Given the description of an element on the screen output the (x, y) to click on. 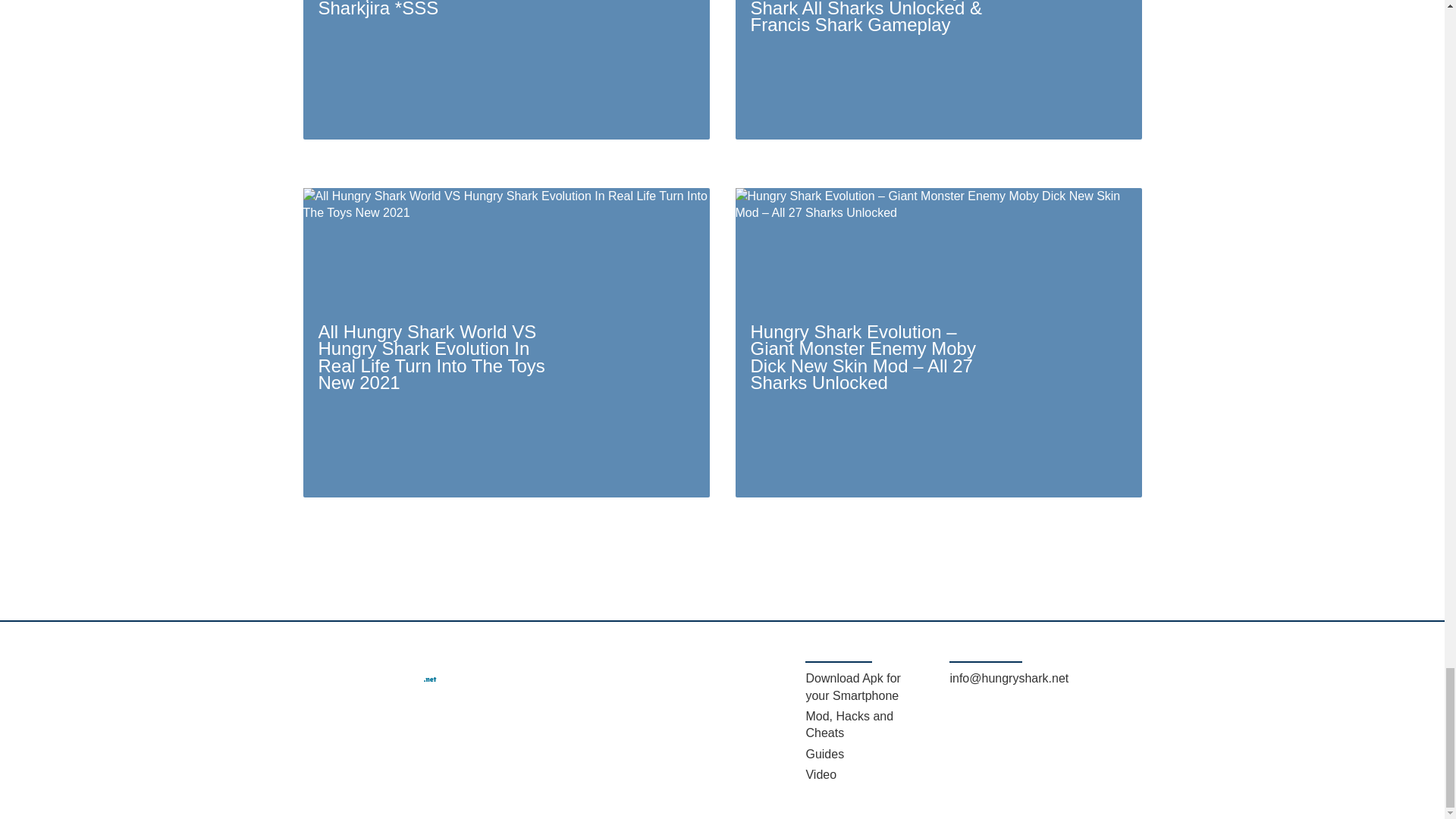
Download Apk for your Smartphone (852, 686)
